Given the description of an element on the screen output the (x, y) to click on. 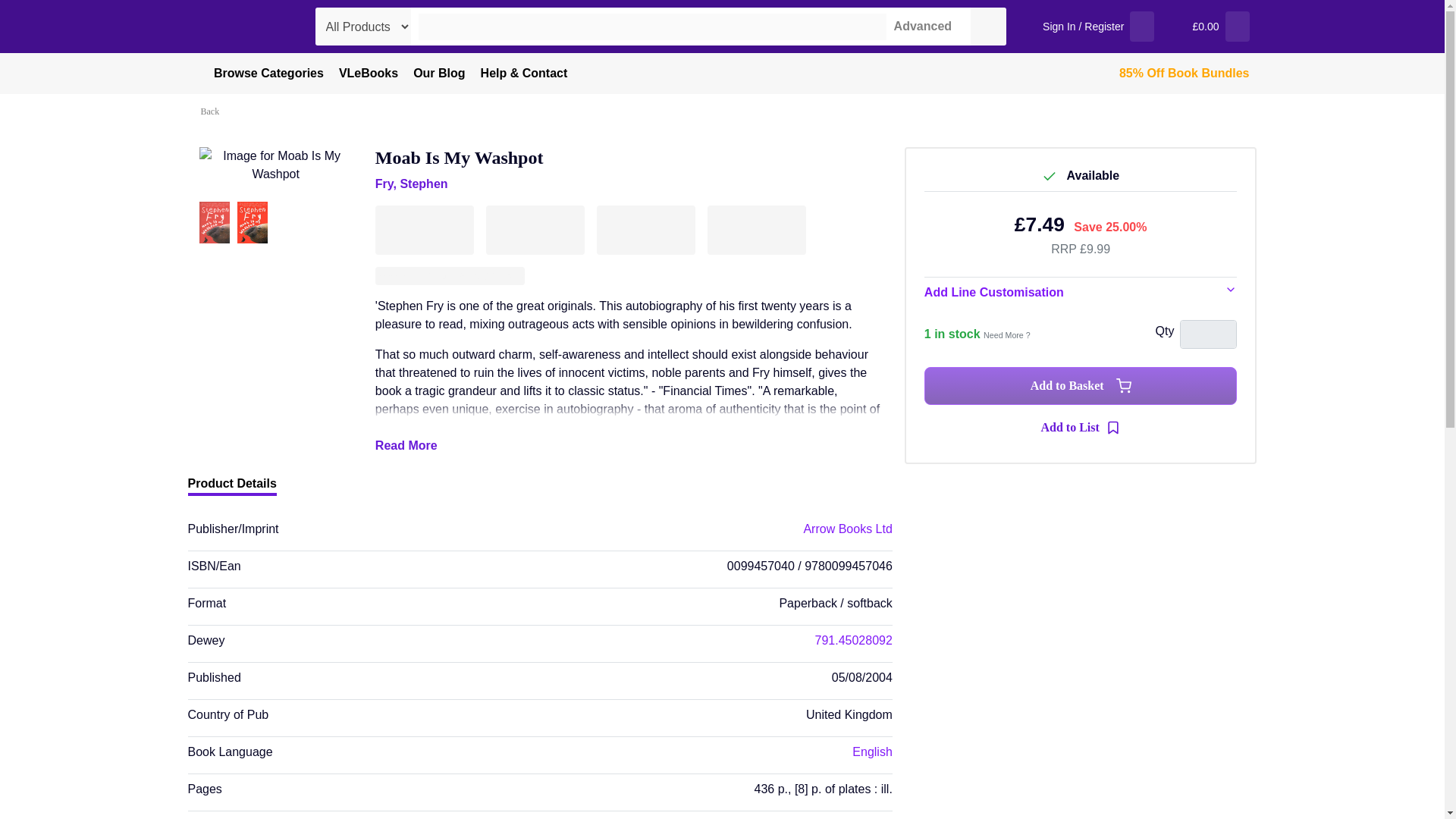
Our Blog (438, 73)
Back (212, 110)
VLeBooks (368, 73)
Browse Categories (259, 73)
Advanced (919, 26)
